Given the description of an element on the screen output the (x, y) to click on. 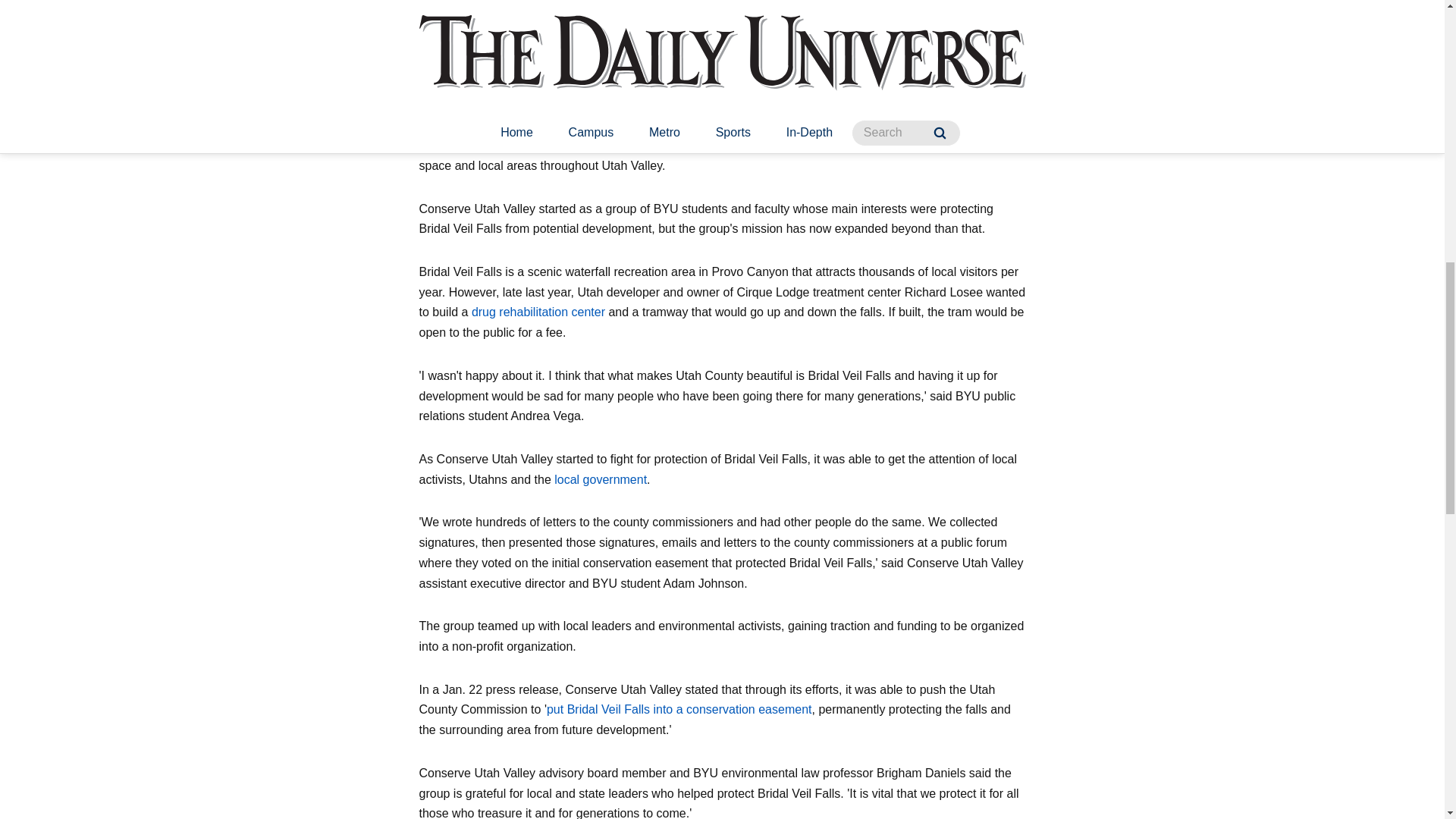
local government (600, 479)
put Bridal Veil Falls into a conservation easement (679, 708)
drug rehabilitation center (538, 311)
Conserve Utah Valley (478, 144)
